Given the description of an element on the screen output the (x, y) to click on. 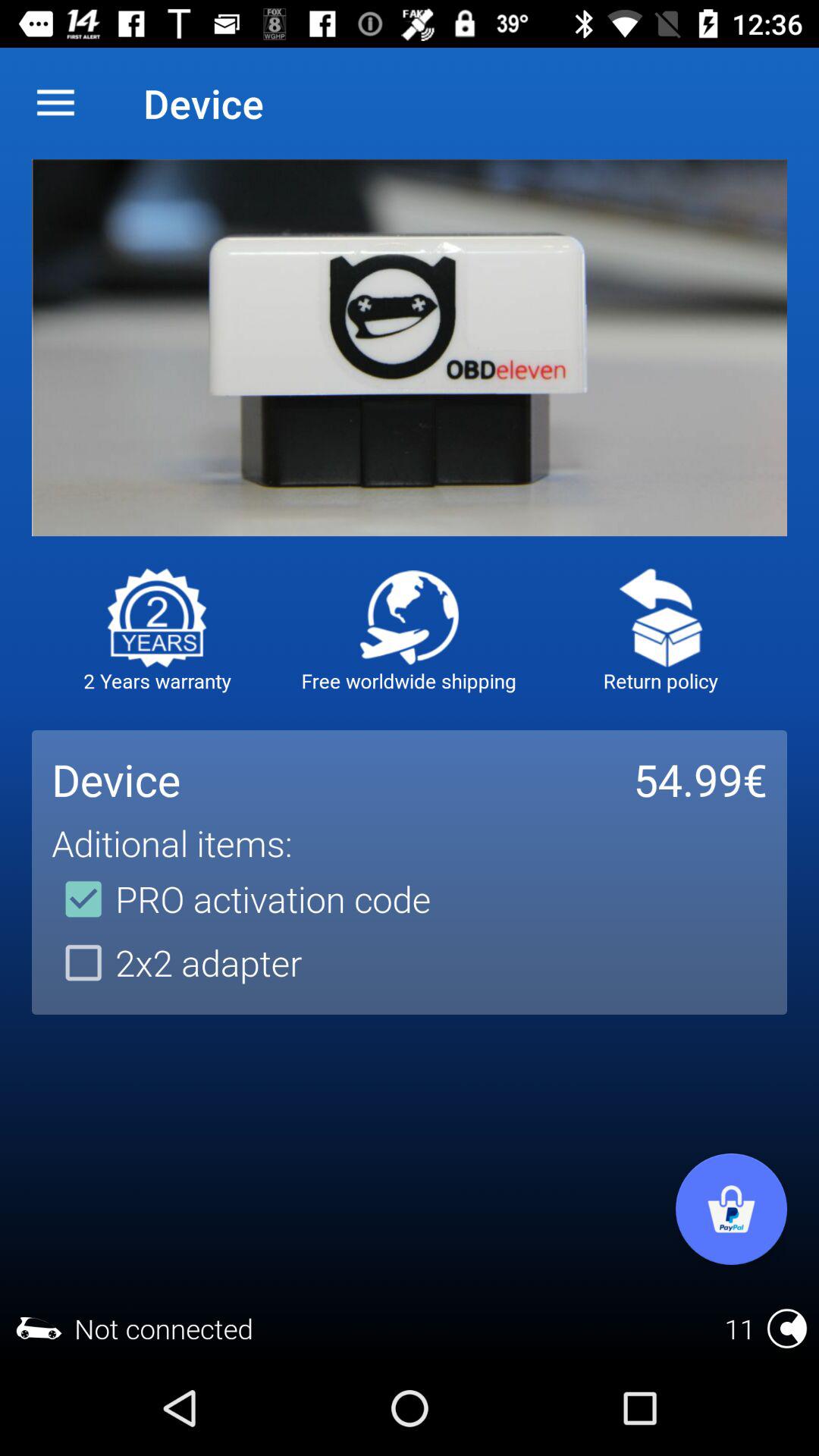
jump to 2x2 adapter (176, 962)
